Given the description of an element on the screen output the (x, y) to click on. 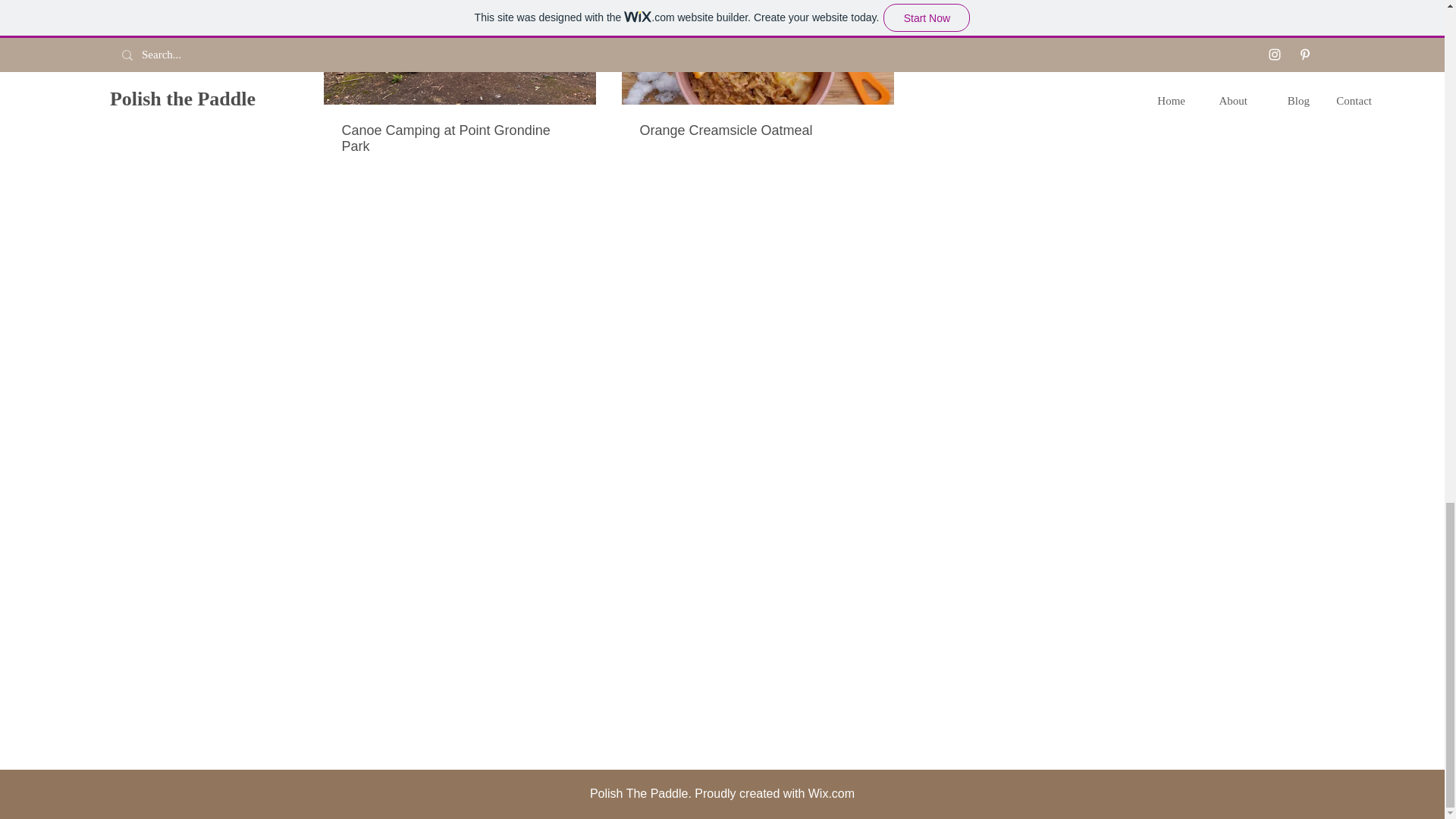
Wix.com (831, 793)
Orange Creamsicle Oatmeal (758, 130)
Canoe Camping at Point Grondine Park (458, 138)
